Given the description of an element on the screen output the (x, y) to click on. 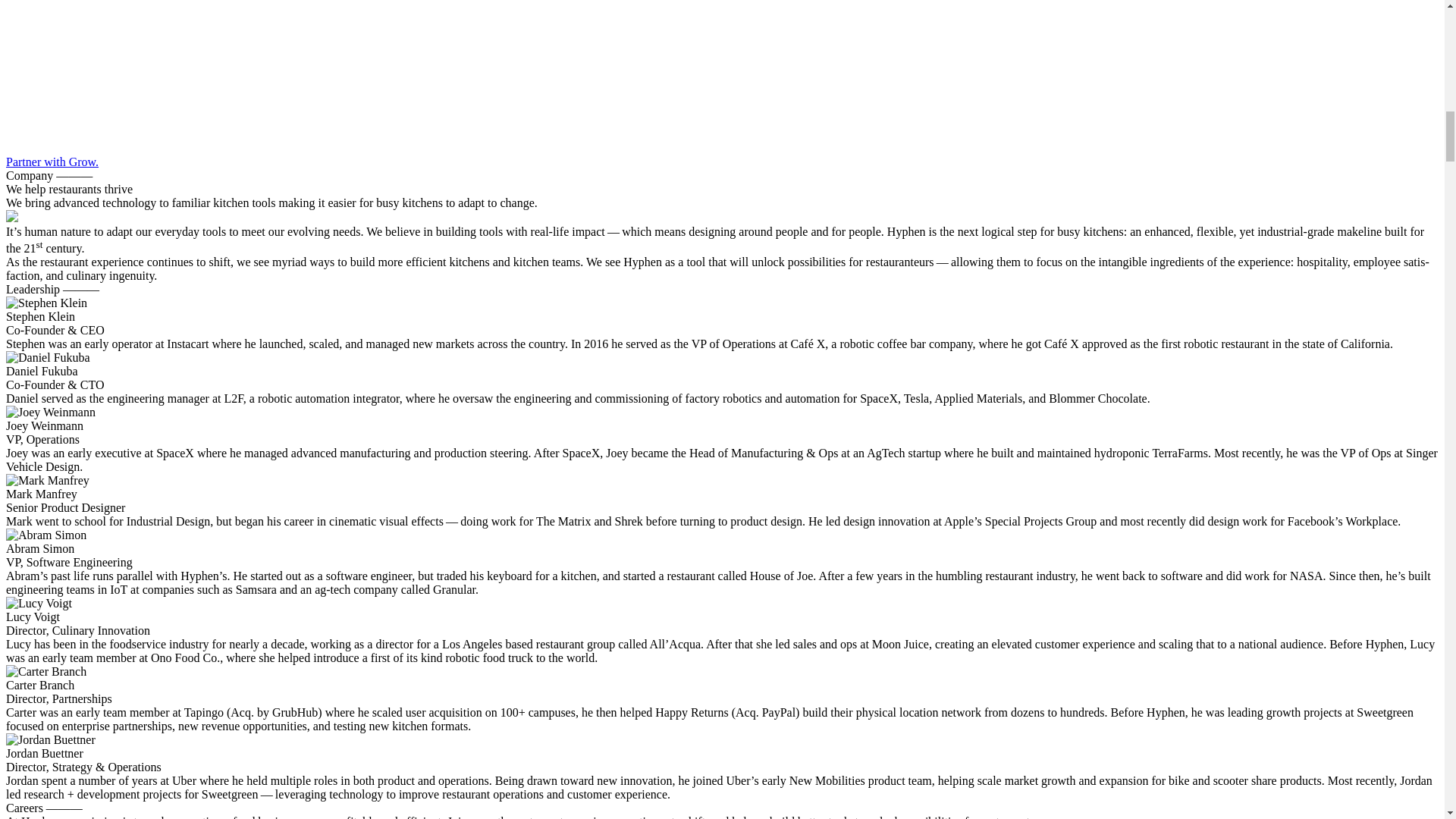
Partner with Grow. (52, 161)
